Given the description of an element on the screen output the (x, y) to click on. 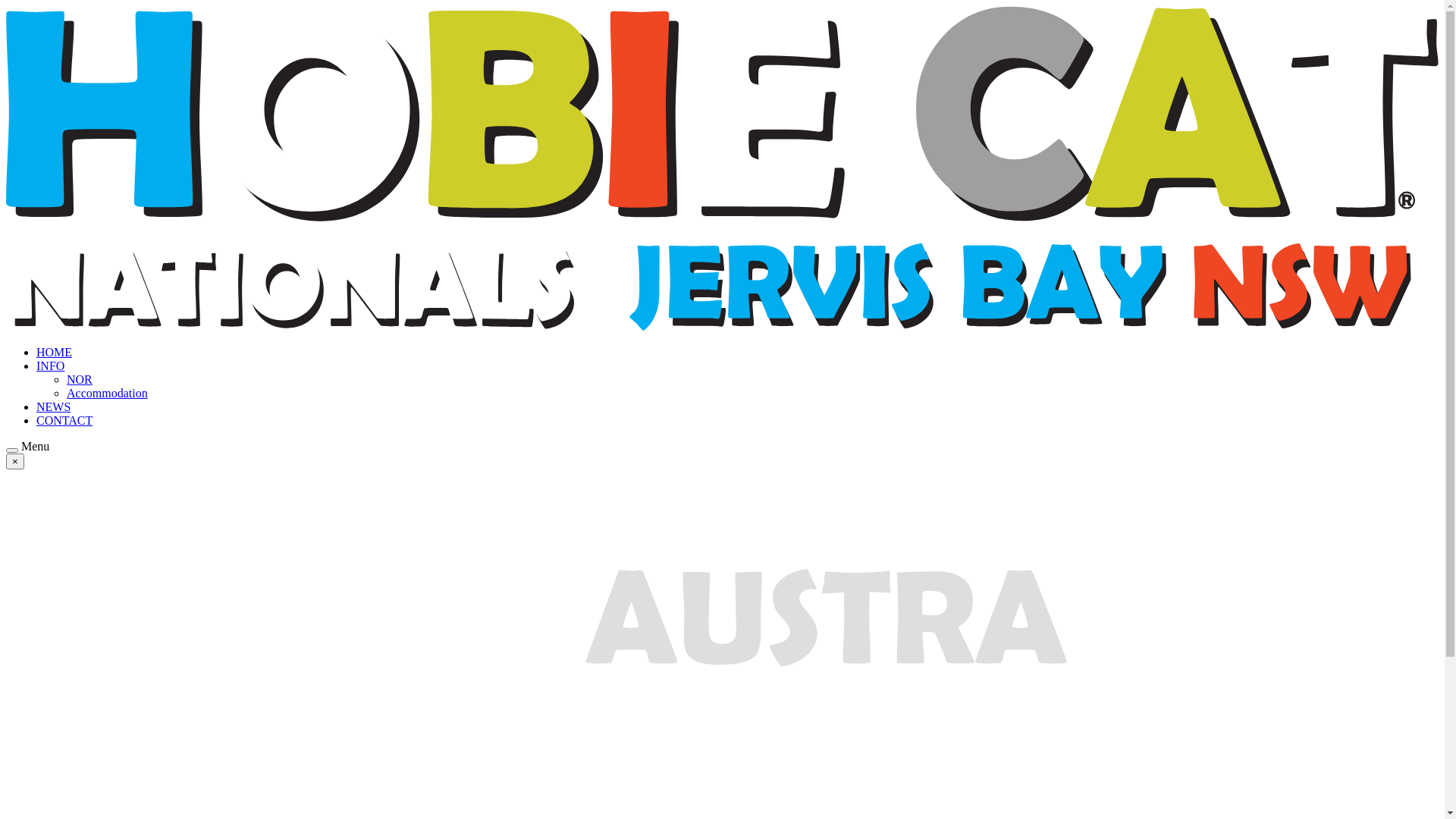
INFO Element type: text (50, 365)
HOME Element type: text (54, 351)
NEWS Element type: text (53, 406)
Accommodation Element type: text (106, 392)
CONTACT Element type: text (64, 420)
NOR Element type: text (79, 379)
